Given the description of an element on the screen output the (x, y) to click on. 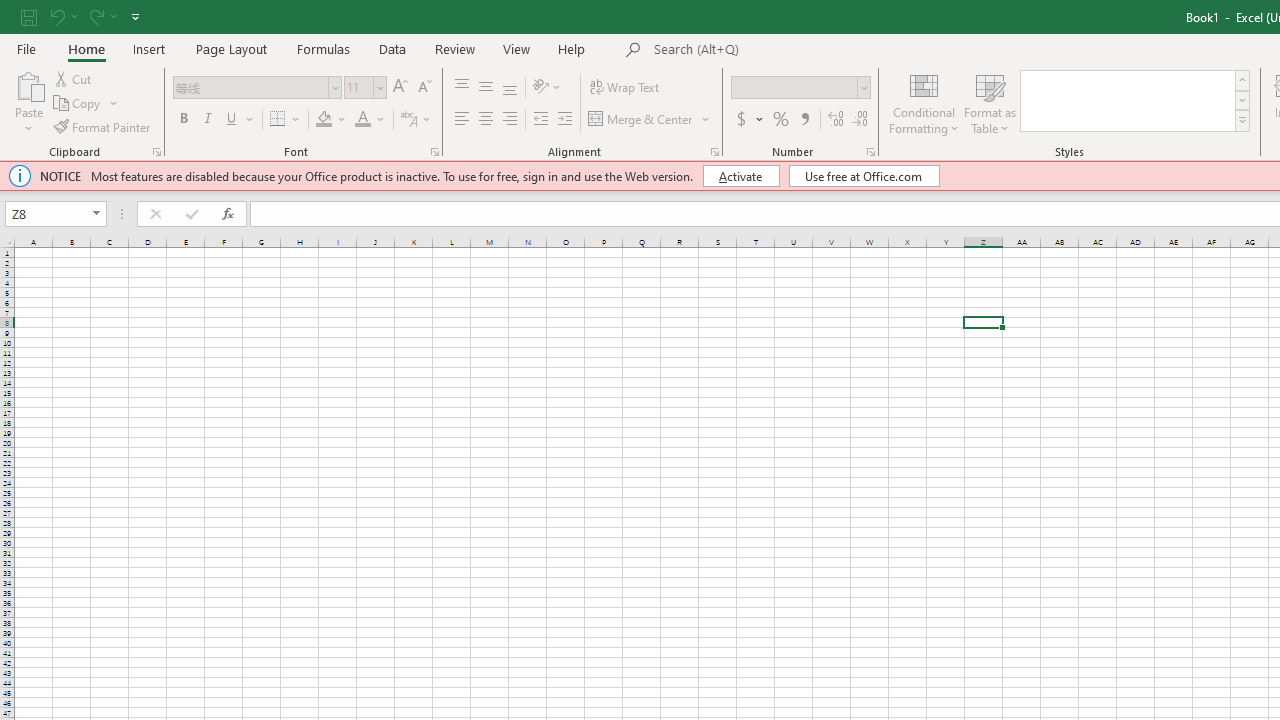
Bottom Border (278, 119)
Activate (740, 175)
Fill Color (331, 119)
Format Cell Number (870, 151)
